Given the description of an element on the screen output the (x, y) to click on. 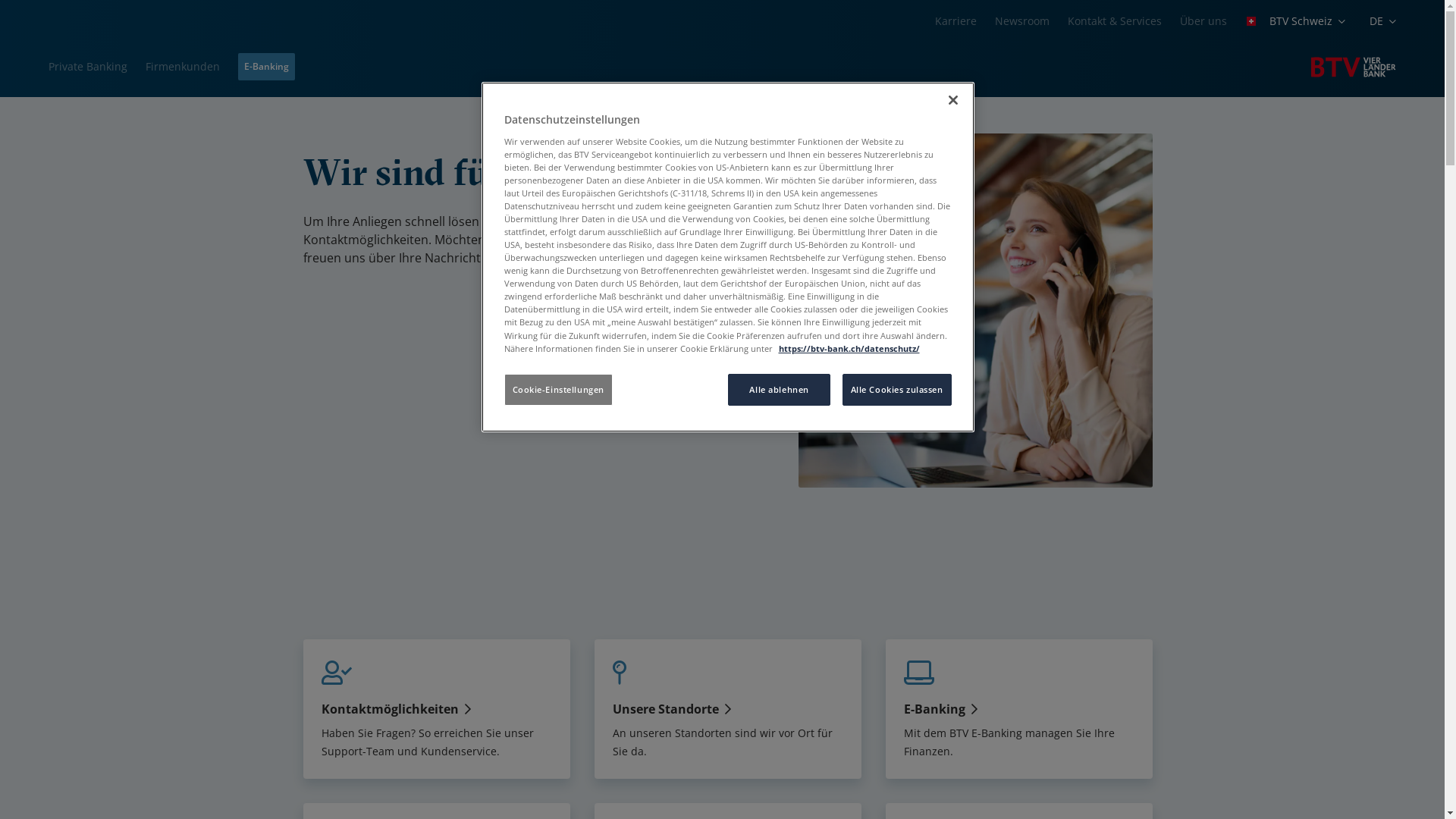
E-Banking Element type: text (266, 66)
Firmenkunden Element type: text (182, 66)
Newsroom Element type: text (1021, 20)
https://btv-bank.ch/datenschutz/ Element type: text (848, 348)
Alle ablehnen Element type: text (779, 389)
Karriere Element type: text (955, 20)
Private Banking Element type: text (87, 66)
Zur Startseite Element type: text (1353, 66)
Kontakt & Services Element type: text (1114, 20)
Cookie-Einstellungen Element type: text (557, 389)
Alle Cookies zulassen Element type: text (896, 389)
